Given the description of an element on the screen output the (x, y) to click on. 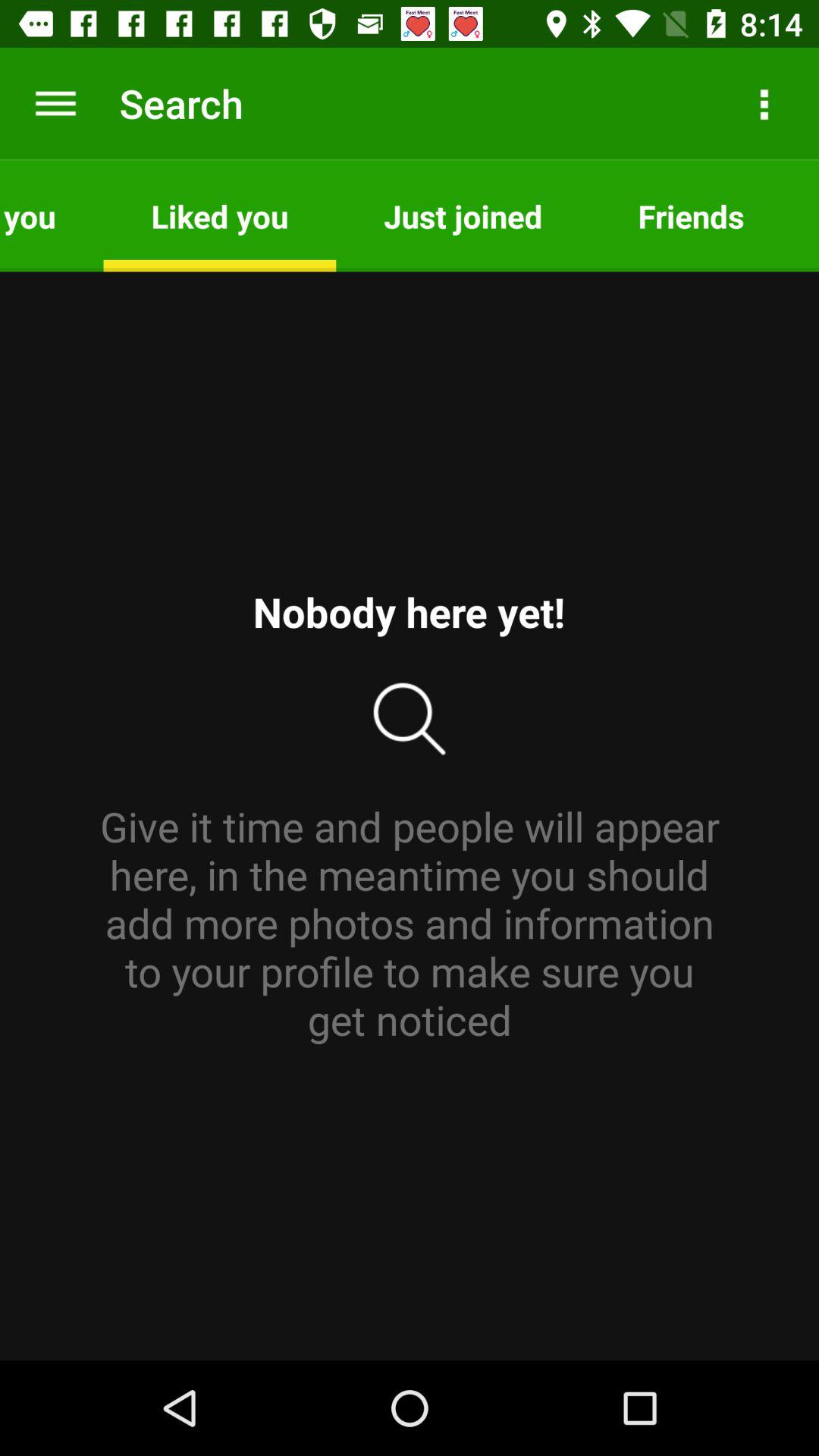
turn off liked you (219, 215)
